Given the description of an element on the screen output the (x, y) to click on. 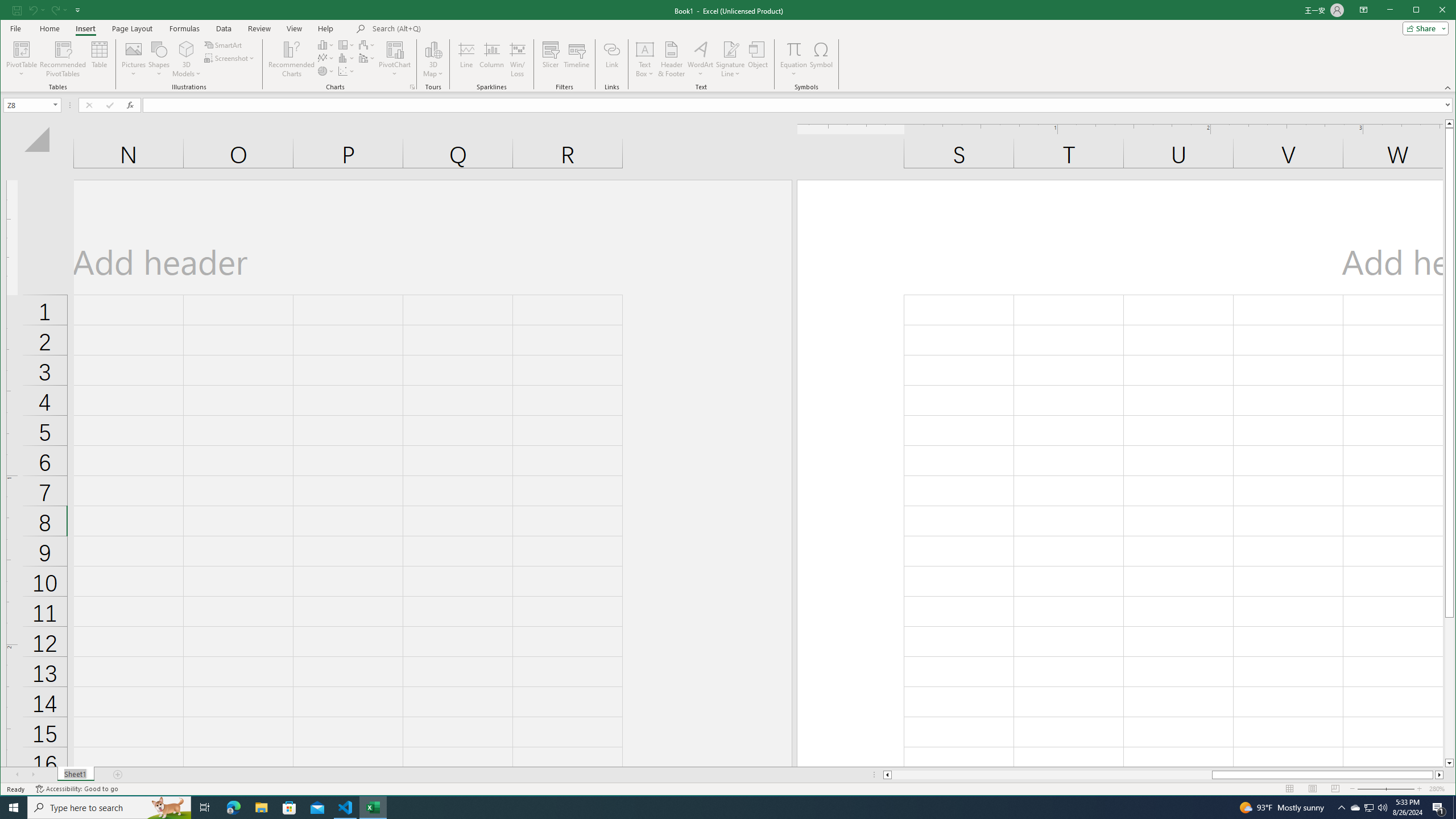
Insert Statistic Chart (346, 57)
Line (466, 59)
Insert Hierarchy Chart (1355, 807)
Running applications (346, 44)
Q2790: 100% (717, 807)
Link (1382, 807)
